Given the description of an element on the screen output the (x, y) to click on. 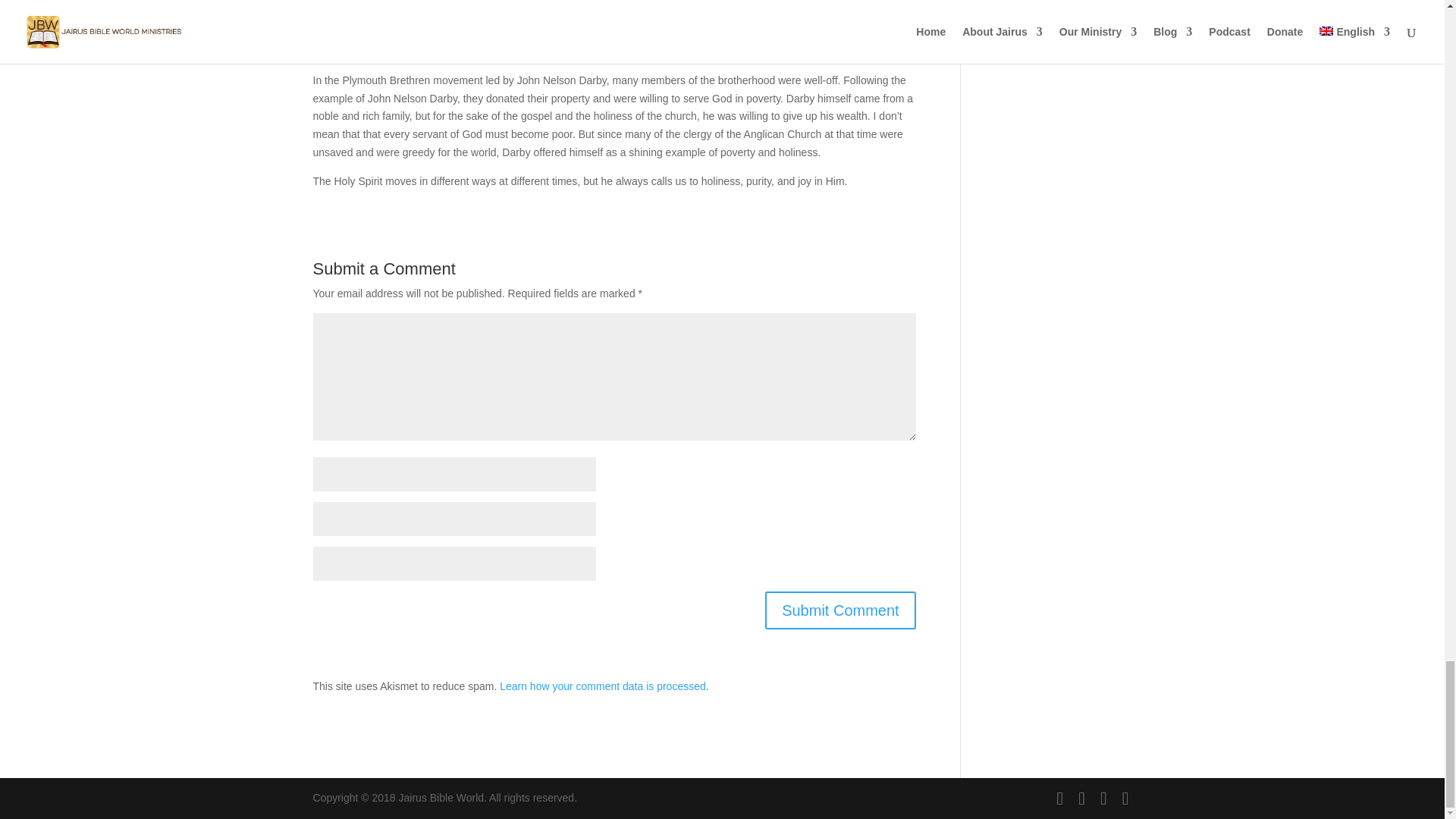
Submit Comment (840, 610)
